Given the description of an element on the screen output the (x, y) to click on. 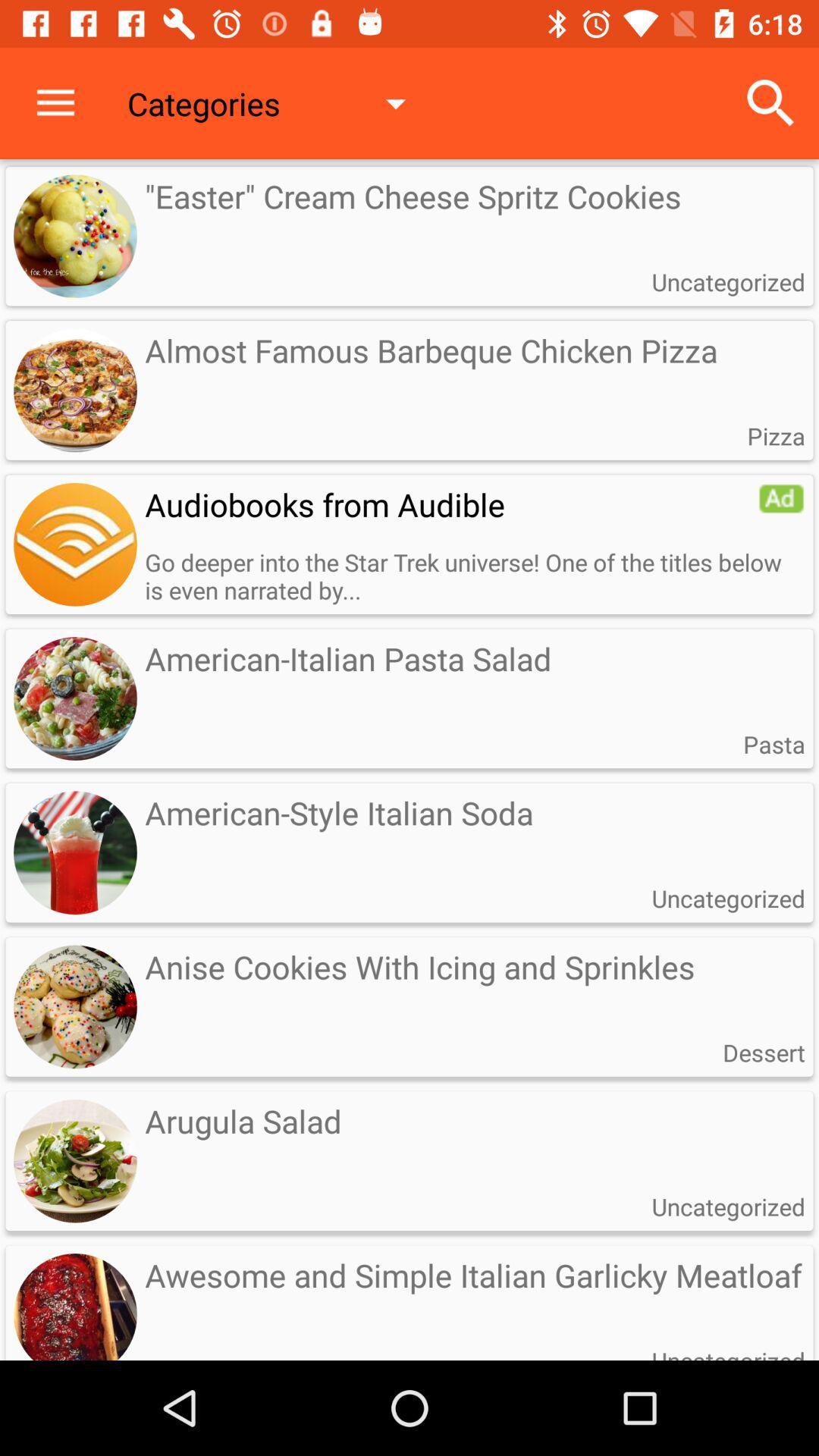
click for advertisement (75, 544)
